Given the description of an element on the screen output the (x, y) to click on. 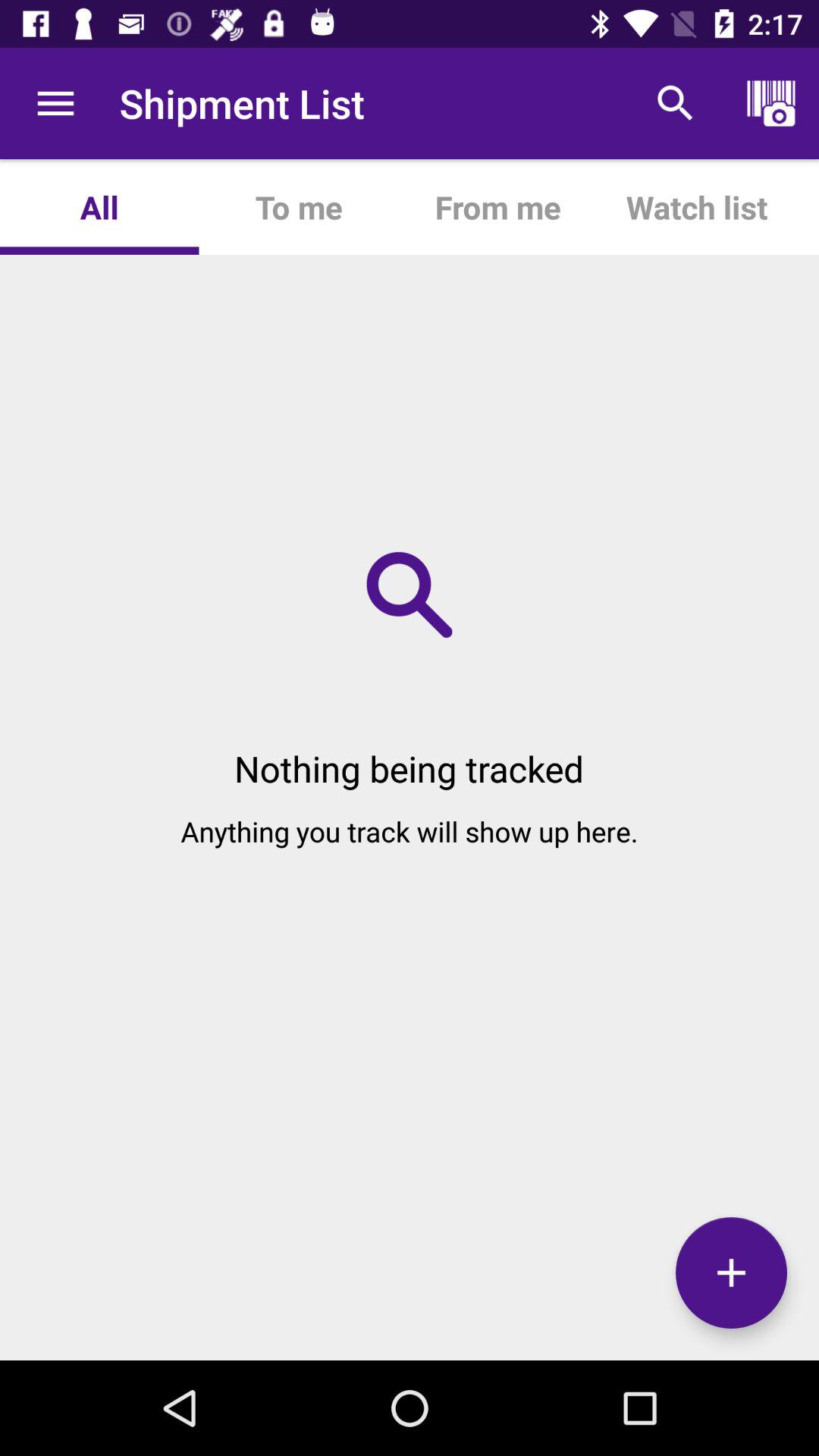
turn off the icon next to the to me app (99, 206)
